Given the description of an element on the screen output the (x, y) to click on. 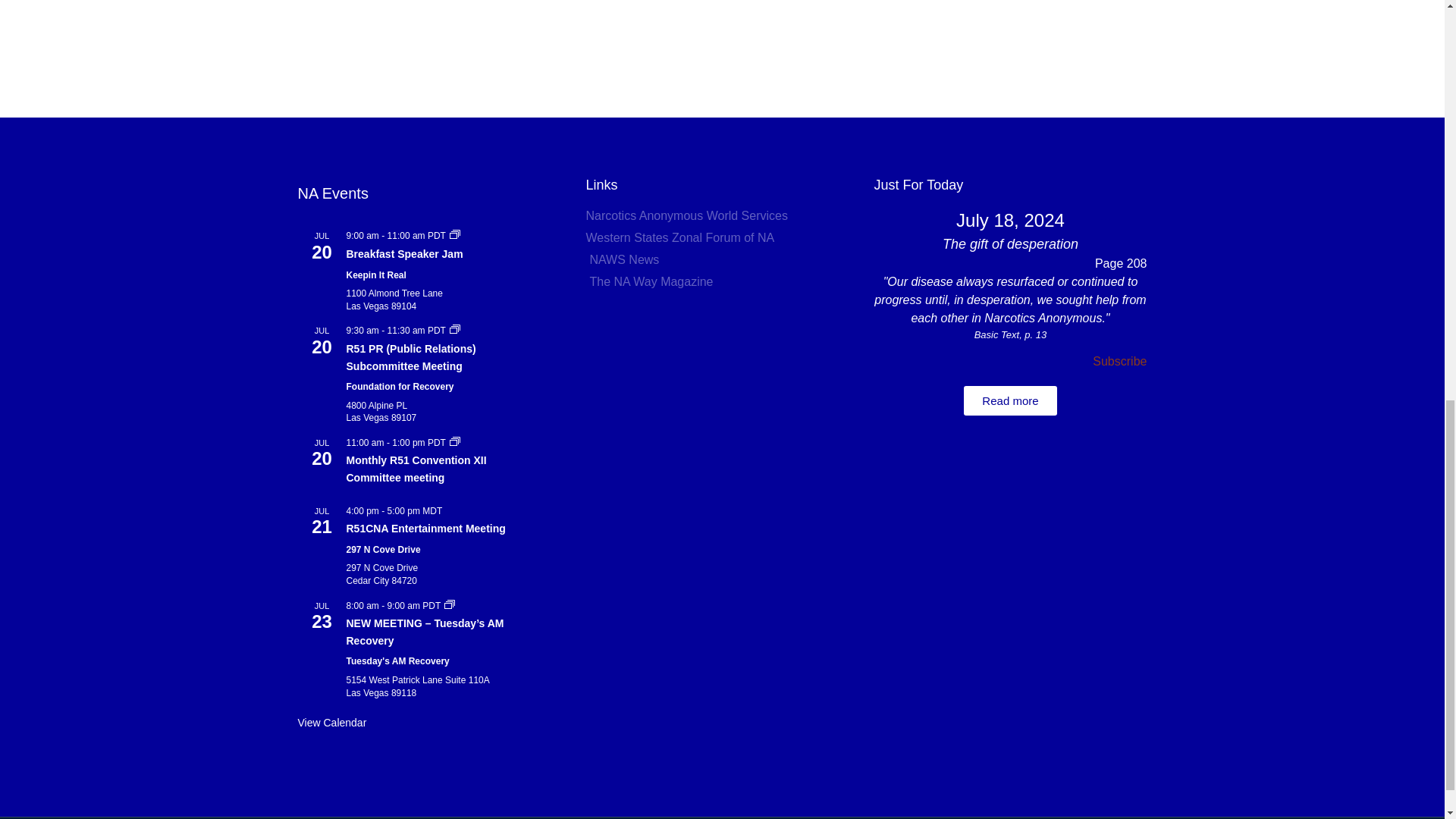
Event Series (454, 442)
Event Series (454, 440)
Event Series (454, 235)
Event Series (449, 604)
Event Series (454, 330)
Monthly R51 Convention XII Committee meeting (416, 469)
Breakfast Speaker Jam (404, 254)
R51CNA Entertainment Meeting (425, 528)
Event Series (454, 234)
Event Series (454, 328)
